Given the description of an element on the screen output the (x, y) to click on. 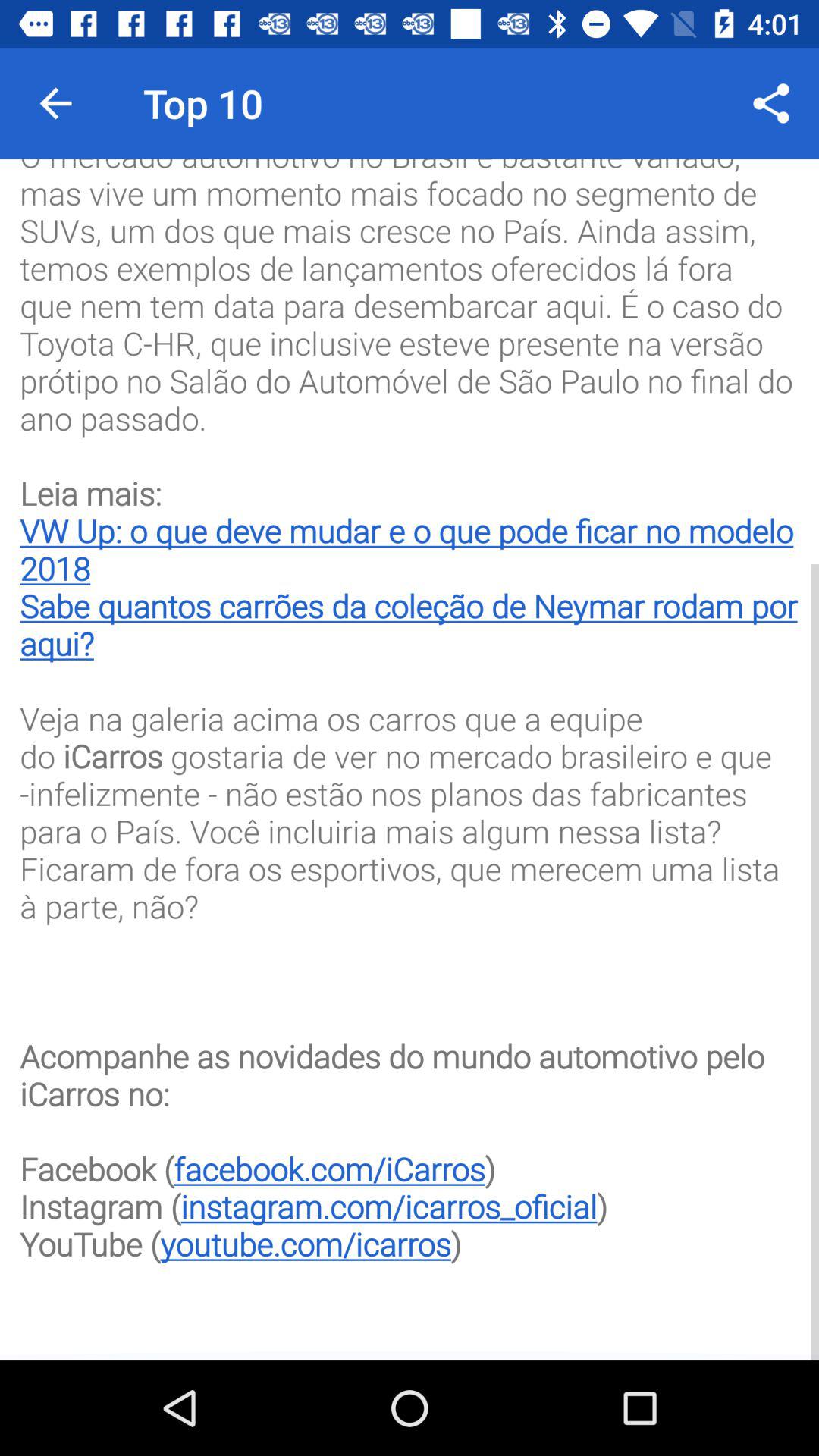
select the o mercado automotivo (409, 749)
